Given the description of an element on the screen output the (x, y) to click on. 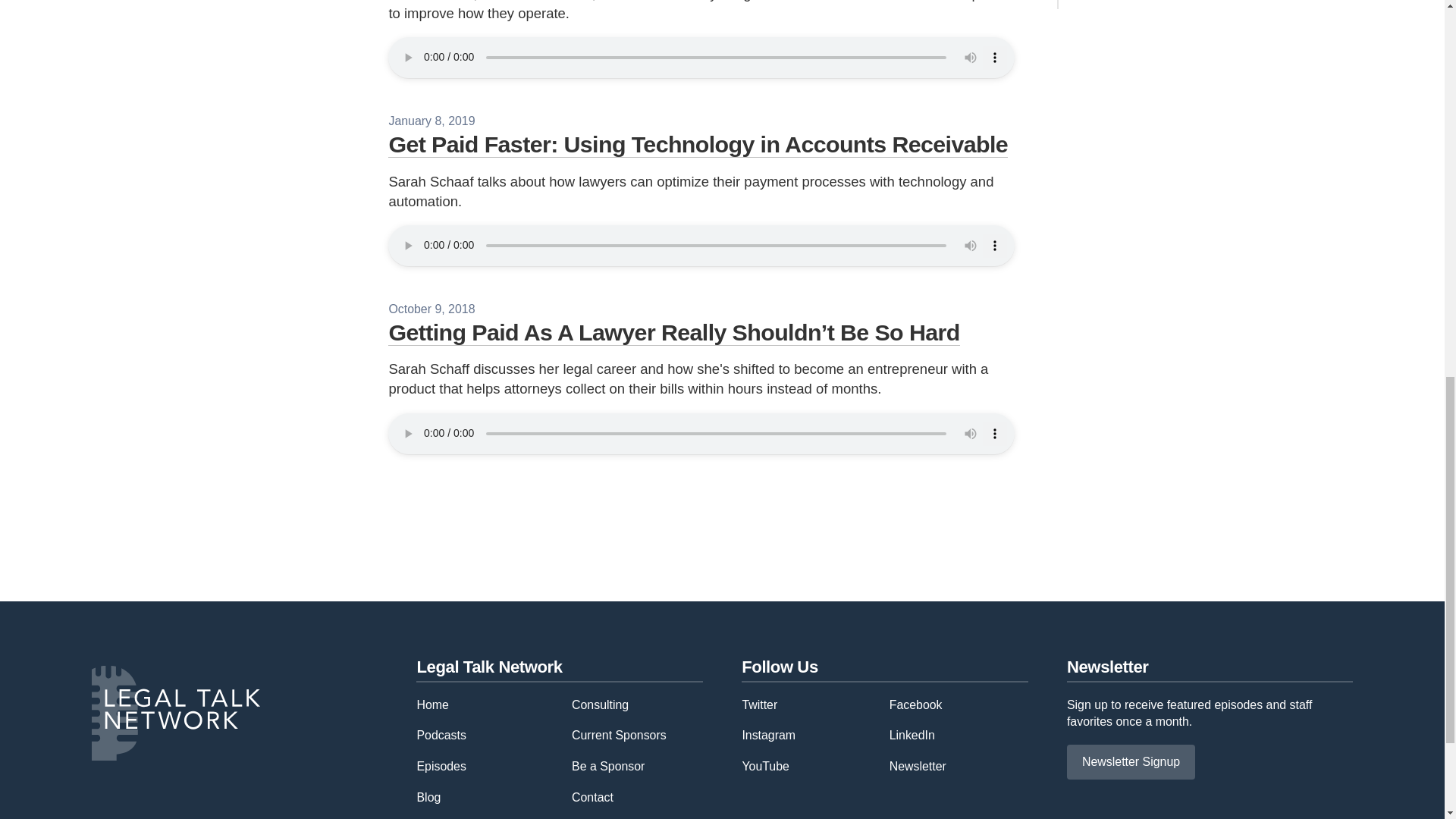
Contact (592, 797)
Episodes (440, 766)
Twitter (759, 703)
Get Paid Faster: Using Technology in Accounts Receivable (697, 144)
Home (432, 703)
Blog (428, 797)
Consulting (600, 703)
Podcasts (440, 735)
Facebook (915, 703)
Current Sponsors (619, 735)
